Given the description of an element on the screen output the (x, y) to click on. 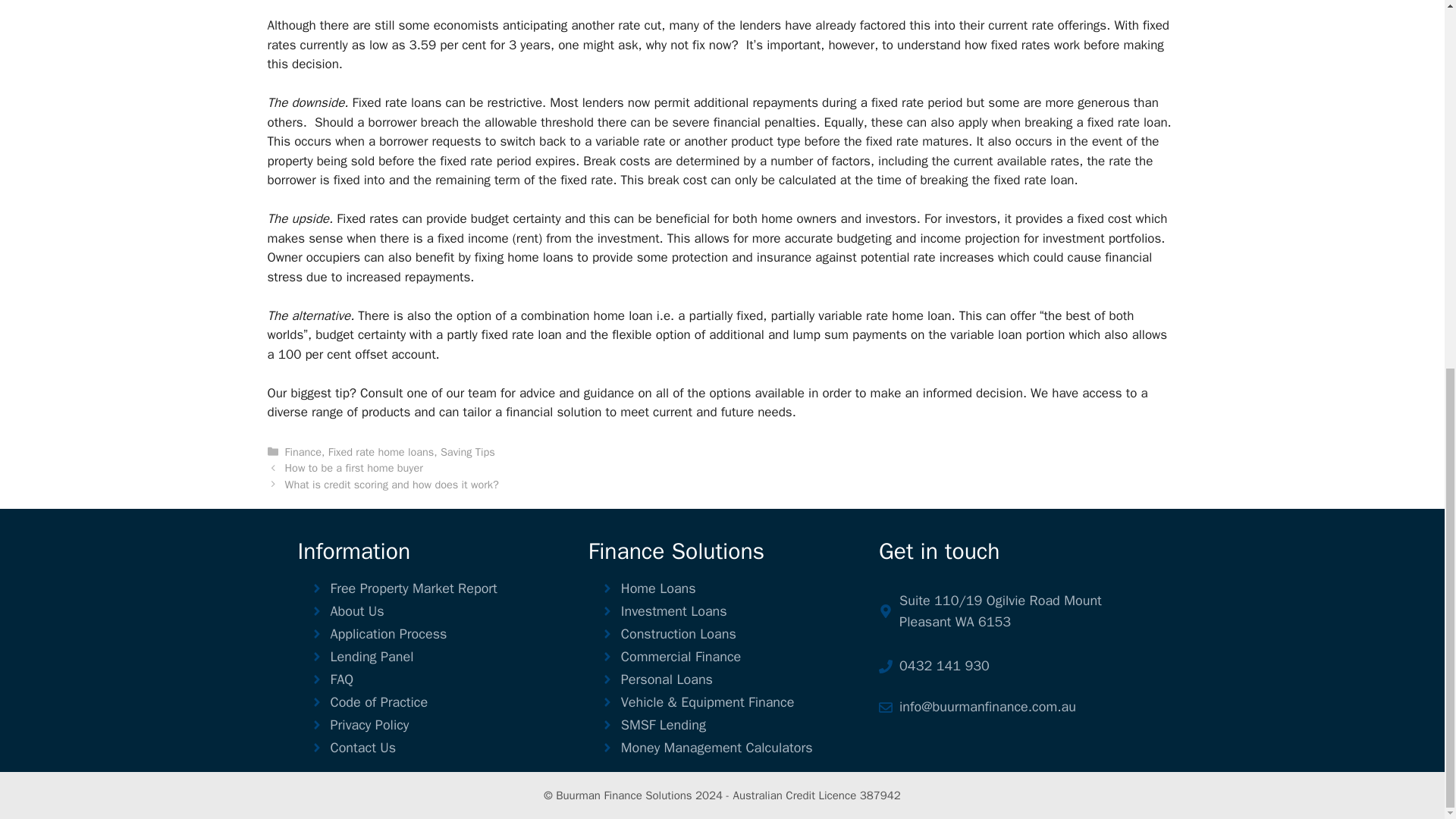
Finance (303, 451)
